Given the description of an element on the screen output the (x, y) to click on. 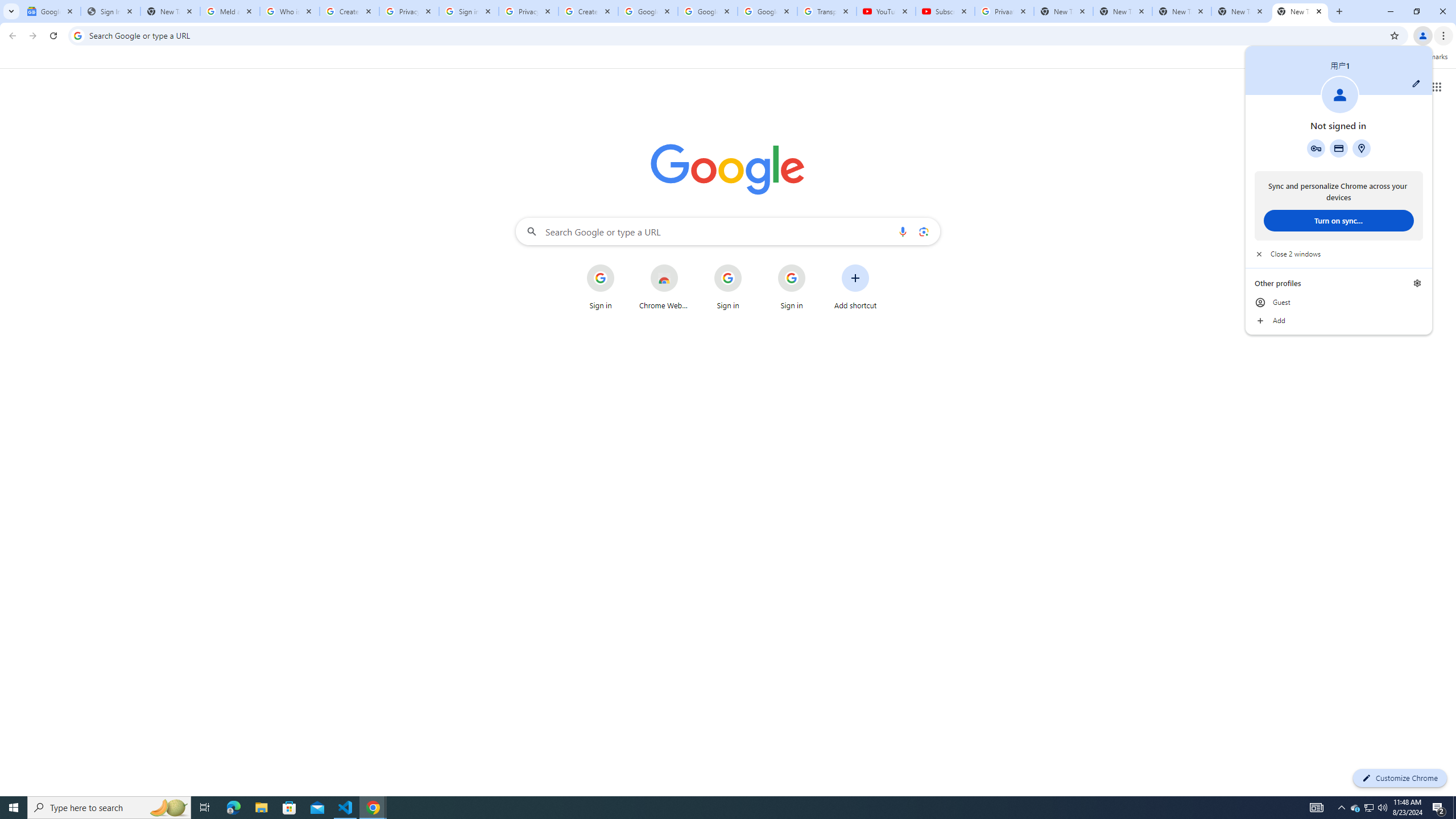
Microsoft Edge (233, 807)
Customize profile (1415, 83)
More actions for Sign in shortcut (814, 265)
Visual Studio Code - 1 running window (345, 807)
Google Account (767, 11)
Who is my administrator? - Google Account Help (289, 11)
Sign in - Google Accounts (468, 11)
Microsoft Store (289, 807)
Create your Google Account (349, 11)
